Given the description of an element on the screen output the (x, y) to click on. 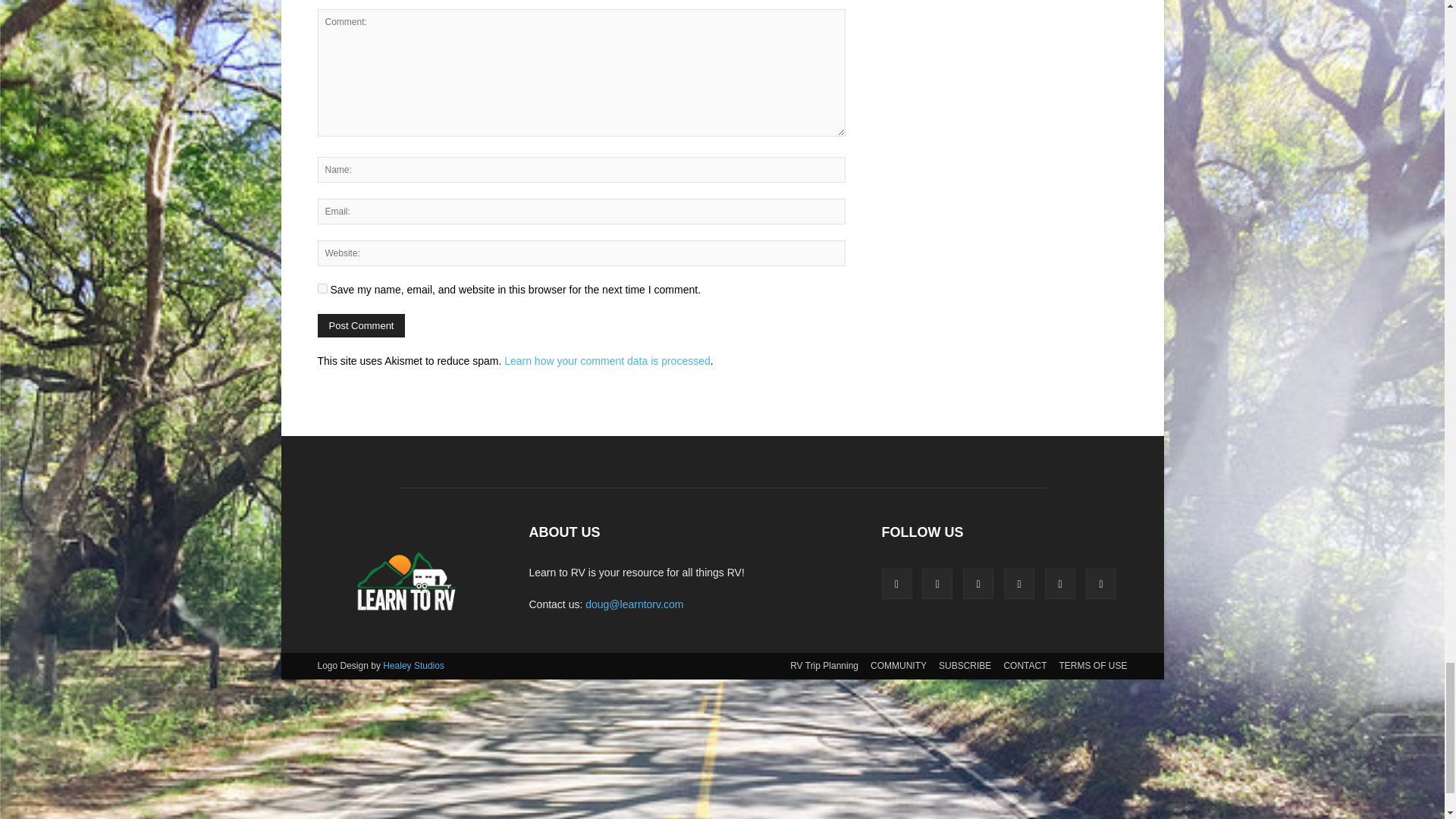
yes (321, 288)
Post Comment (360, 325)
